Given the description of an element on the screen output the (x, y) to click on. 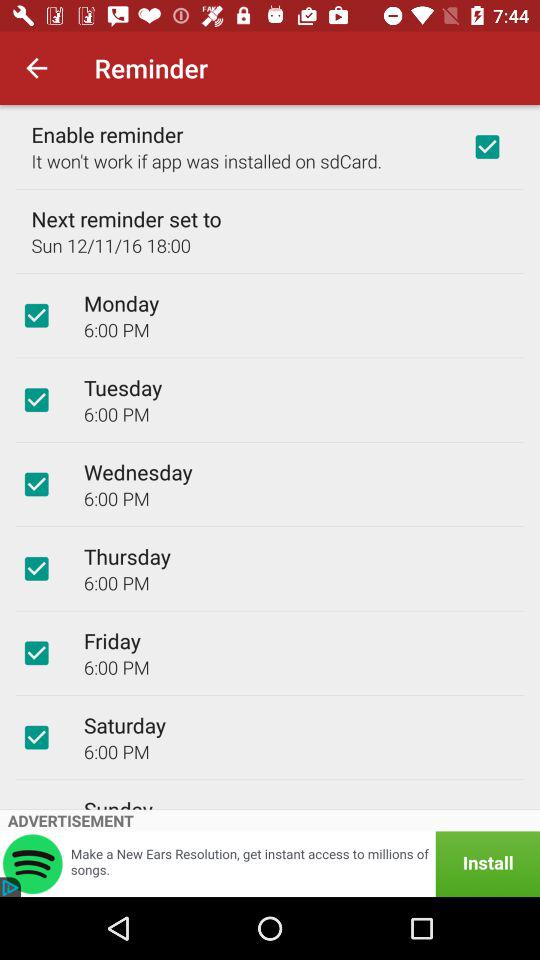
select one (487, 147)
